Given the description of an element on the screen output the (x, y) to click on. 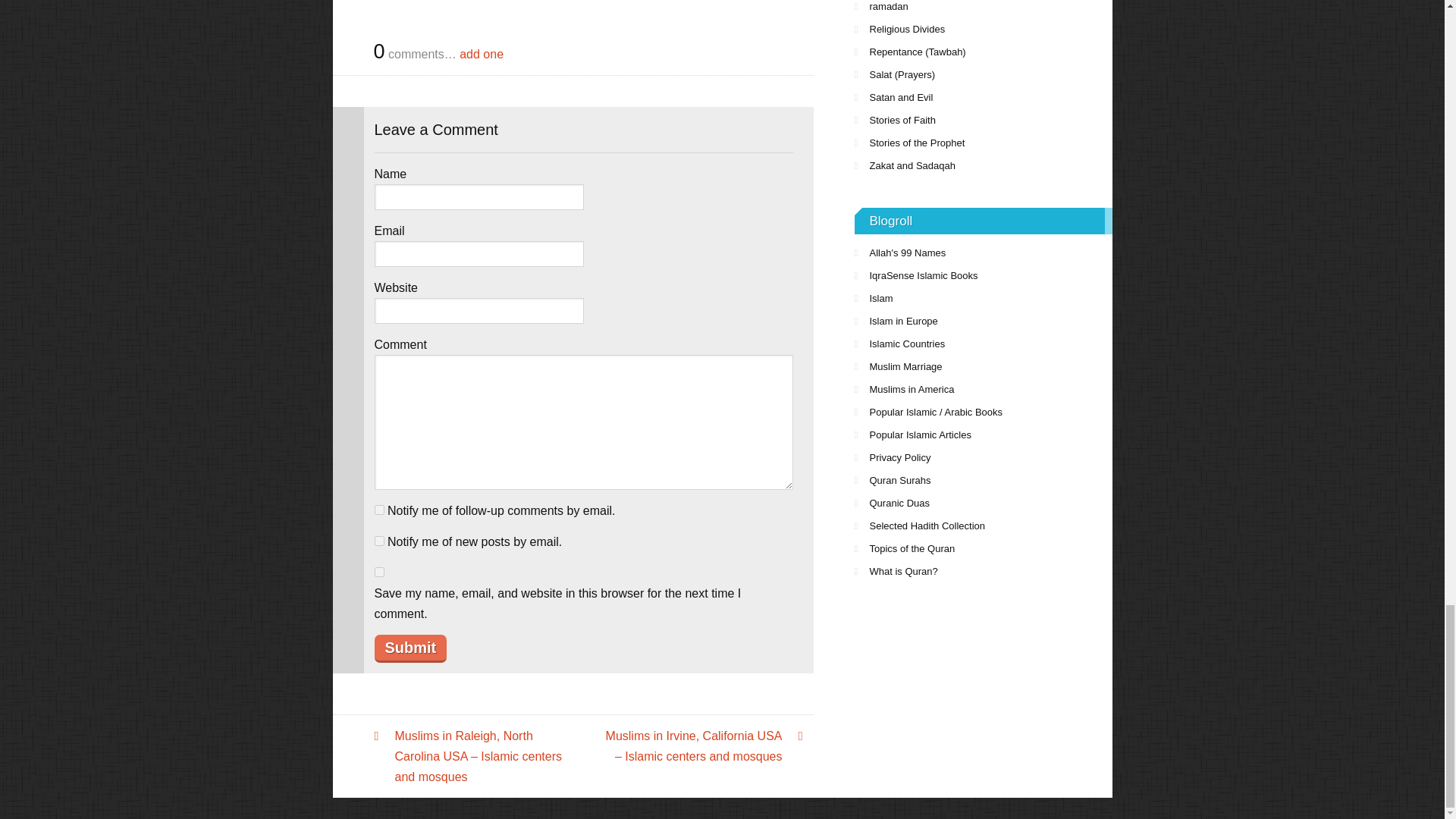
subscribe (379, 541)
yes (379, 572)
add one (481, 53)
Quranic Duas (982, 503)
Submit (410, 648)
Islam (982, 298)
Popular Islamic Articles (982, 435)
subscribe (379, 510)
Submit (410, 648)
